Given the description of an element on the screen output the (x, y) to click on. 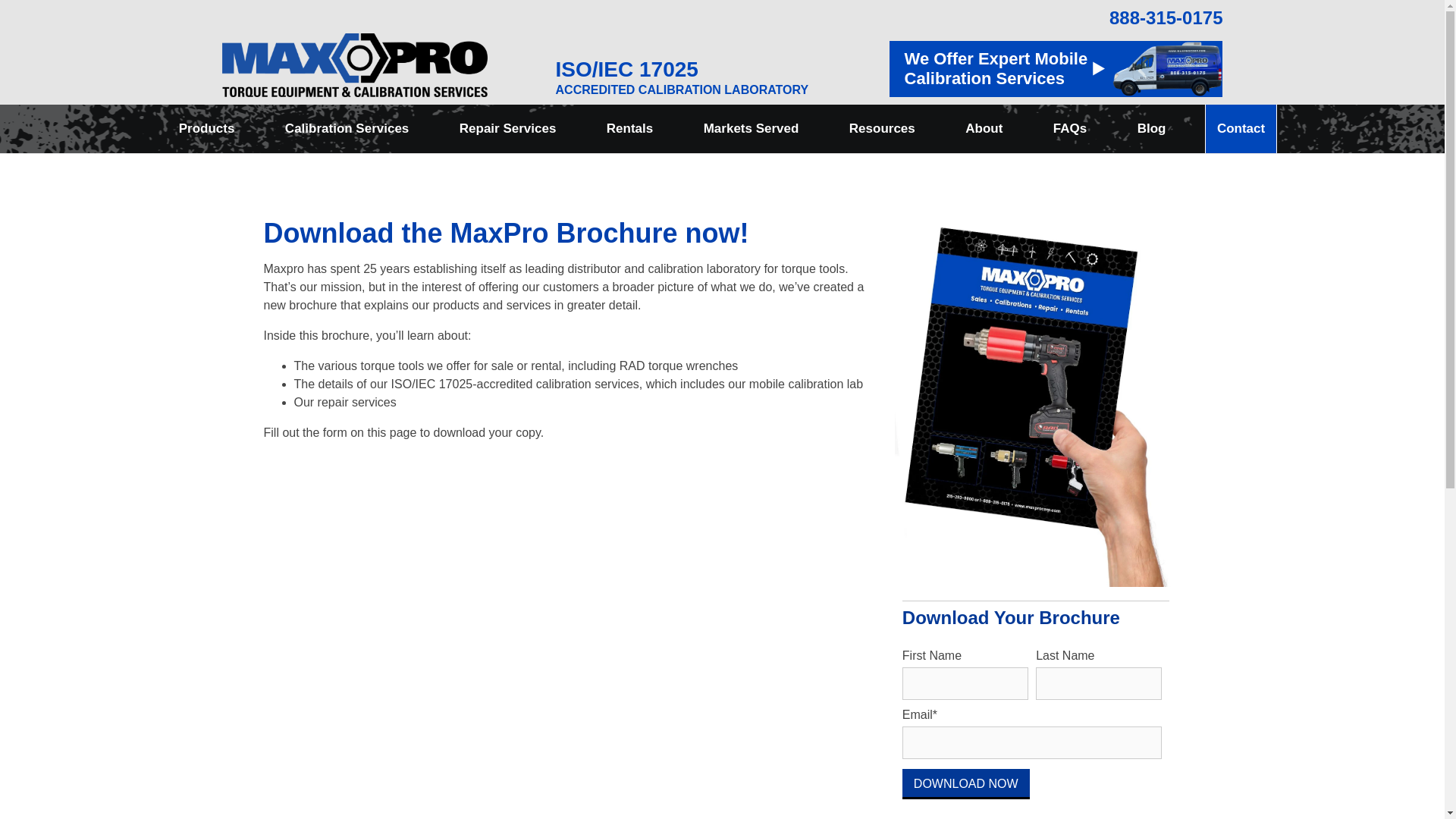
888-315-0175 (1056, 18)
Rentals (629, 128)
Resources (882, 128)
Contact (1240, 128)
Repair Services (507, 128)
Markets Served (751, 128)
Products (206, 128)
About (983, 128)
FAQs (1069, 128)
Calibration Services (346, 128)
DOWNLOAD NOW (965, 784)
Blog (1151, 128)
We Offer Expert Mobile Calibration Services (1056, 68)
